Given the description of an element on the screen output the (x, y) to click on. 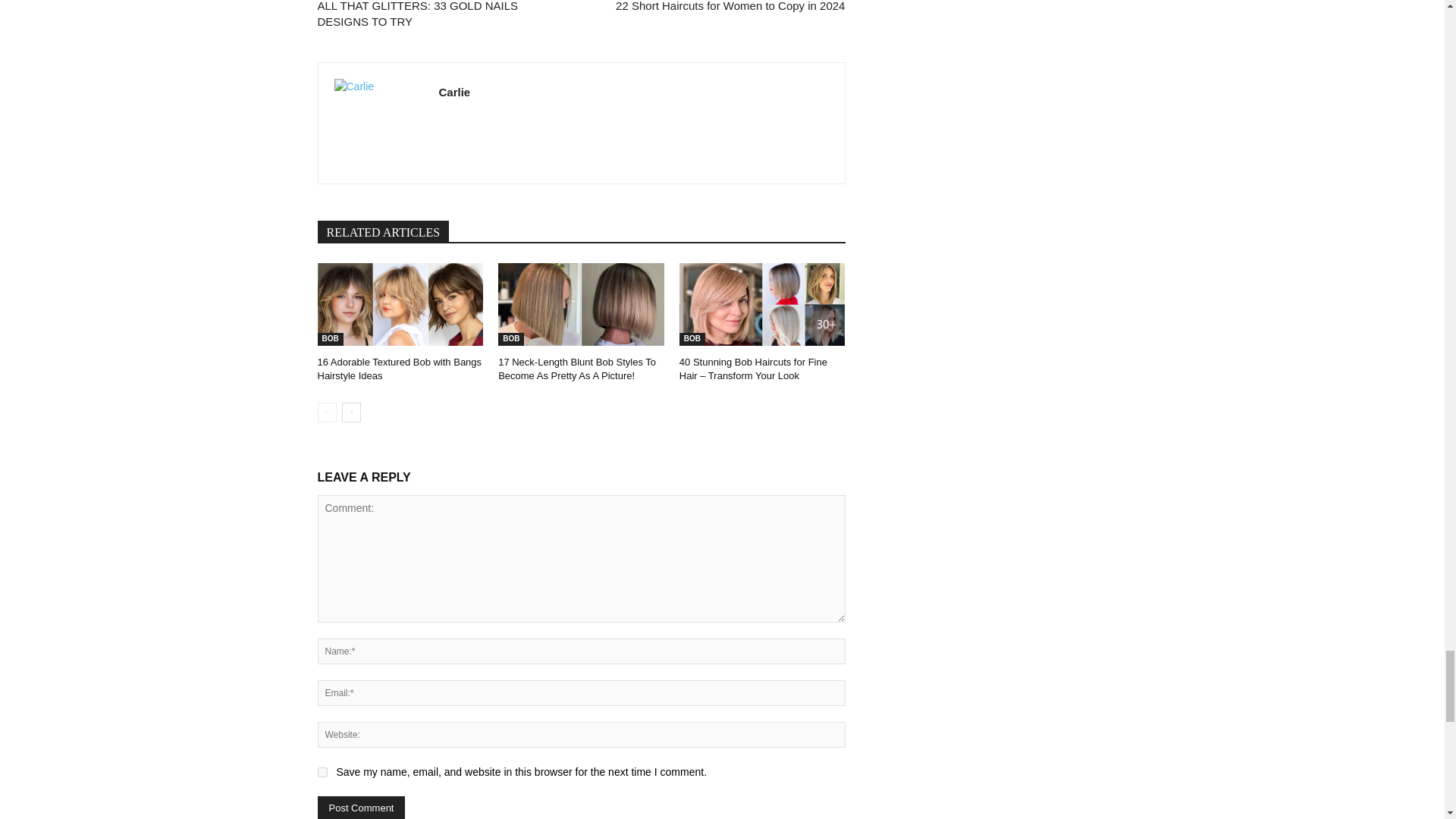
yes (321, 772)
Post Comment (360, 807)
